Given the description of an element on the screen output the (x, y) to click on. 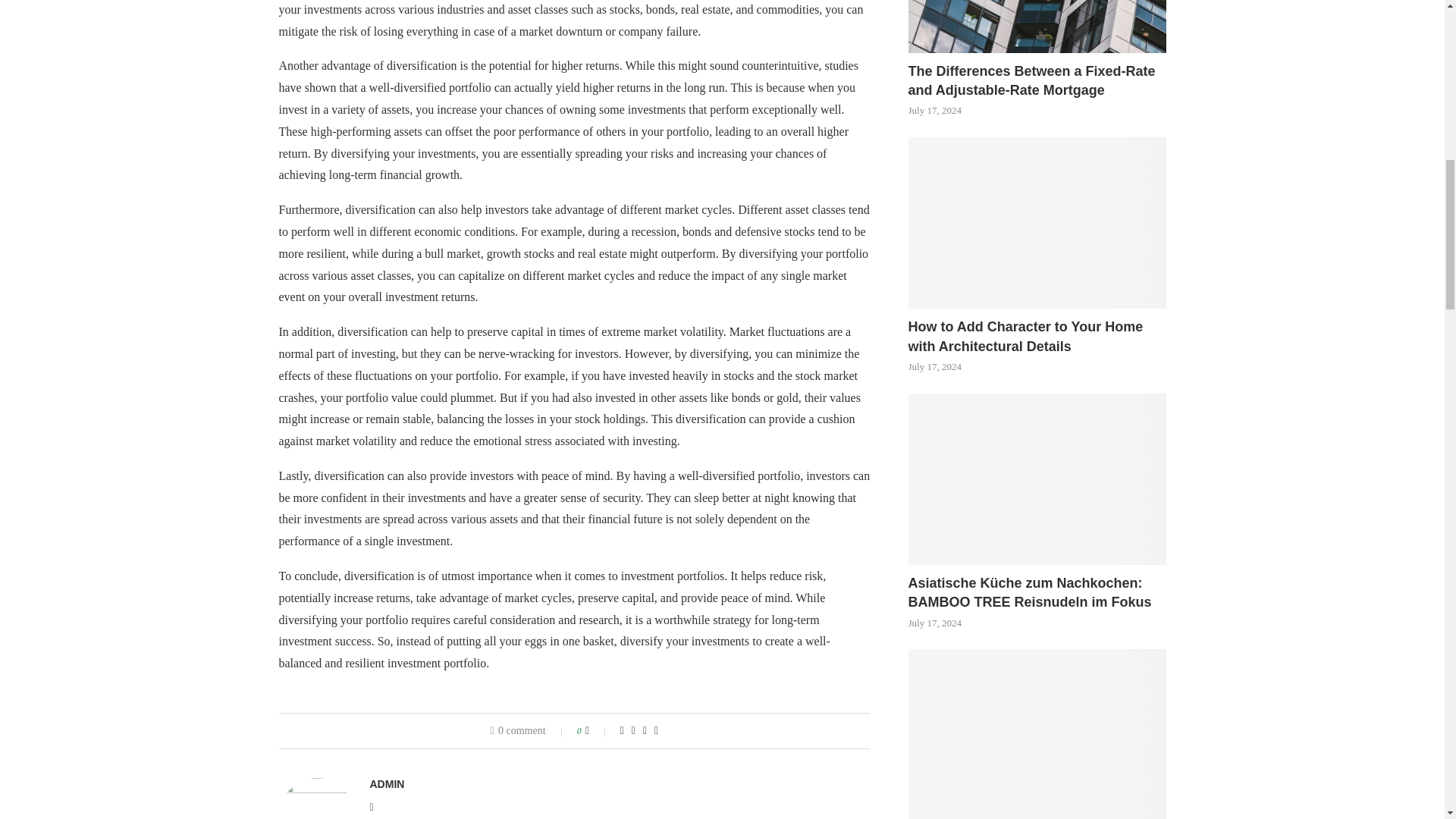
Author admin (386, 784)
Like (597, 730)
